Given the description of an element on the screen output the (x, y) to click on. 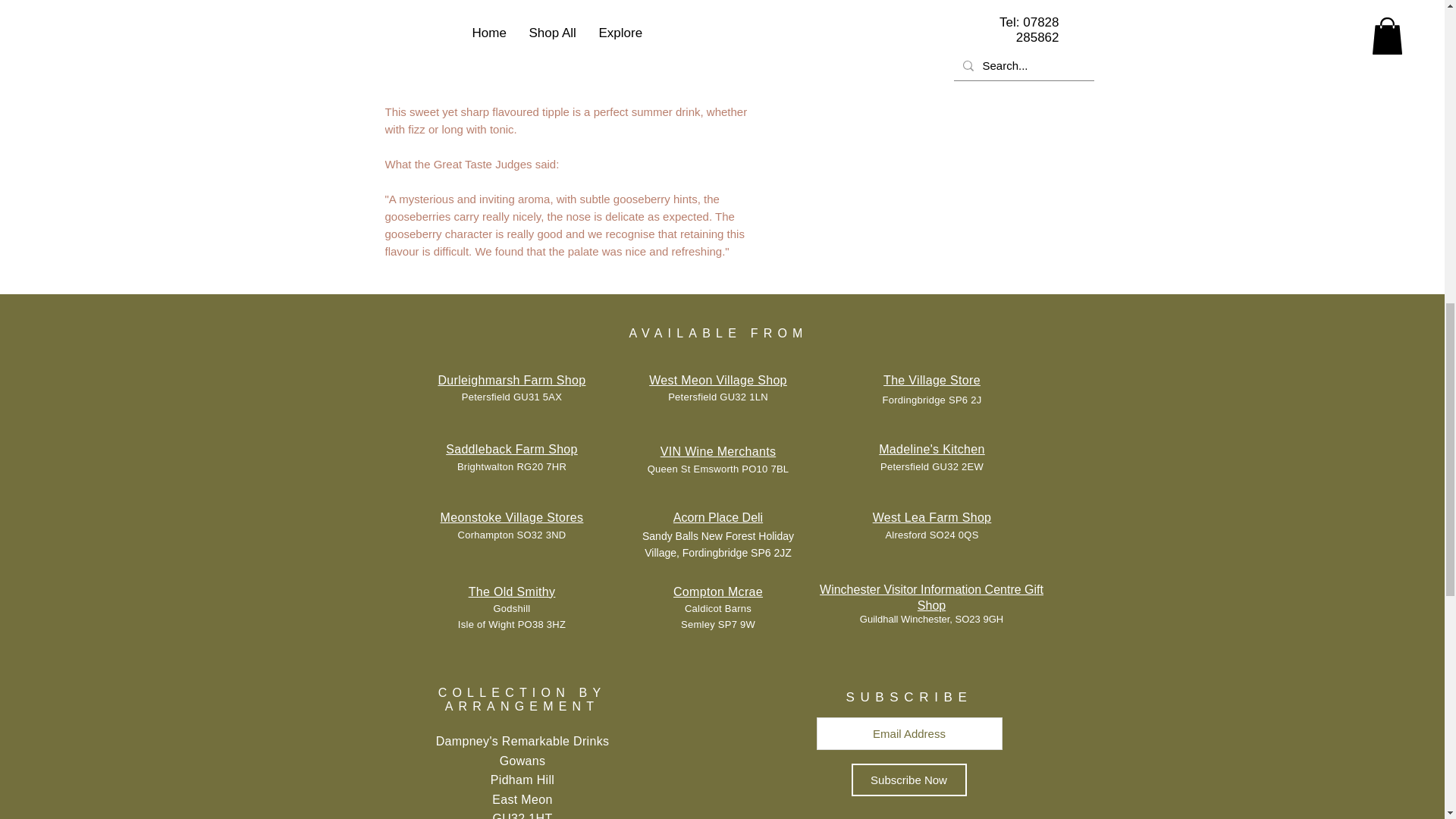
Fordingbridge SP6 2J (931, 399)
West Lea Farm Shop (931, 517)
U32 1LN (748, 396)
Durleighmarsh Farm Shop (512, 379)
VIN Wine Merchants (718, 451)
O32 3ND (544, 534)
West Meon Village Shop (718, 379)
Subscribe Now (908, 779)
Acorn Place Deli (717, 517)
Madeline's Kitchen (932, 449)
